Given the description of an element on the screen output the (x, y) to click on. 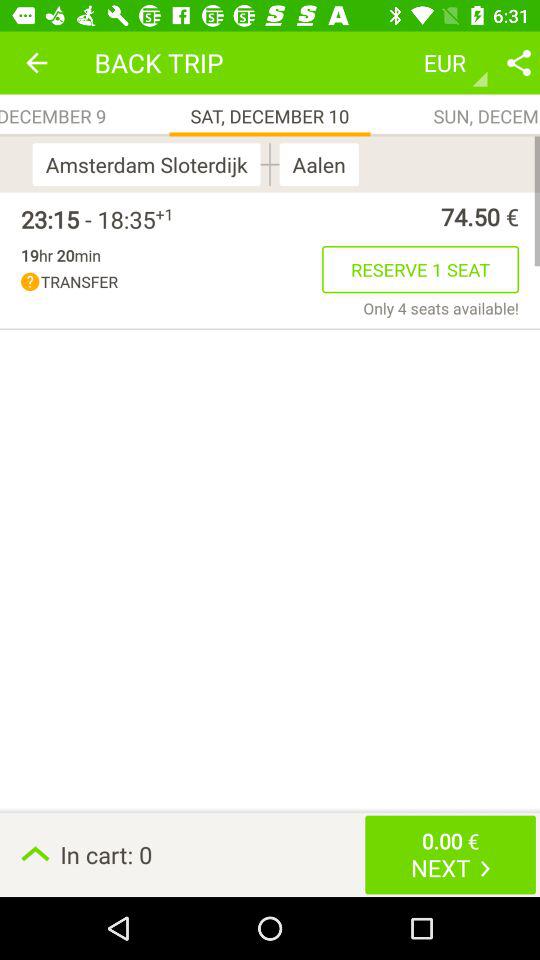
swipe until amsterdam sloterdijk item (150, 164)
